Given the description of an element on the screen output the (x, y) to click on. 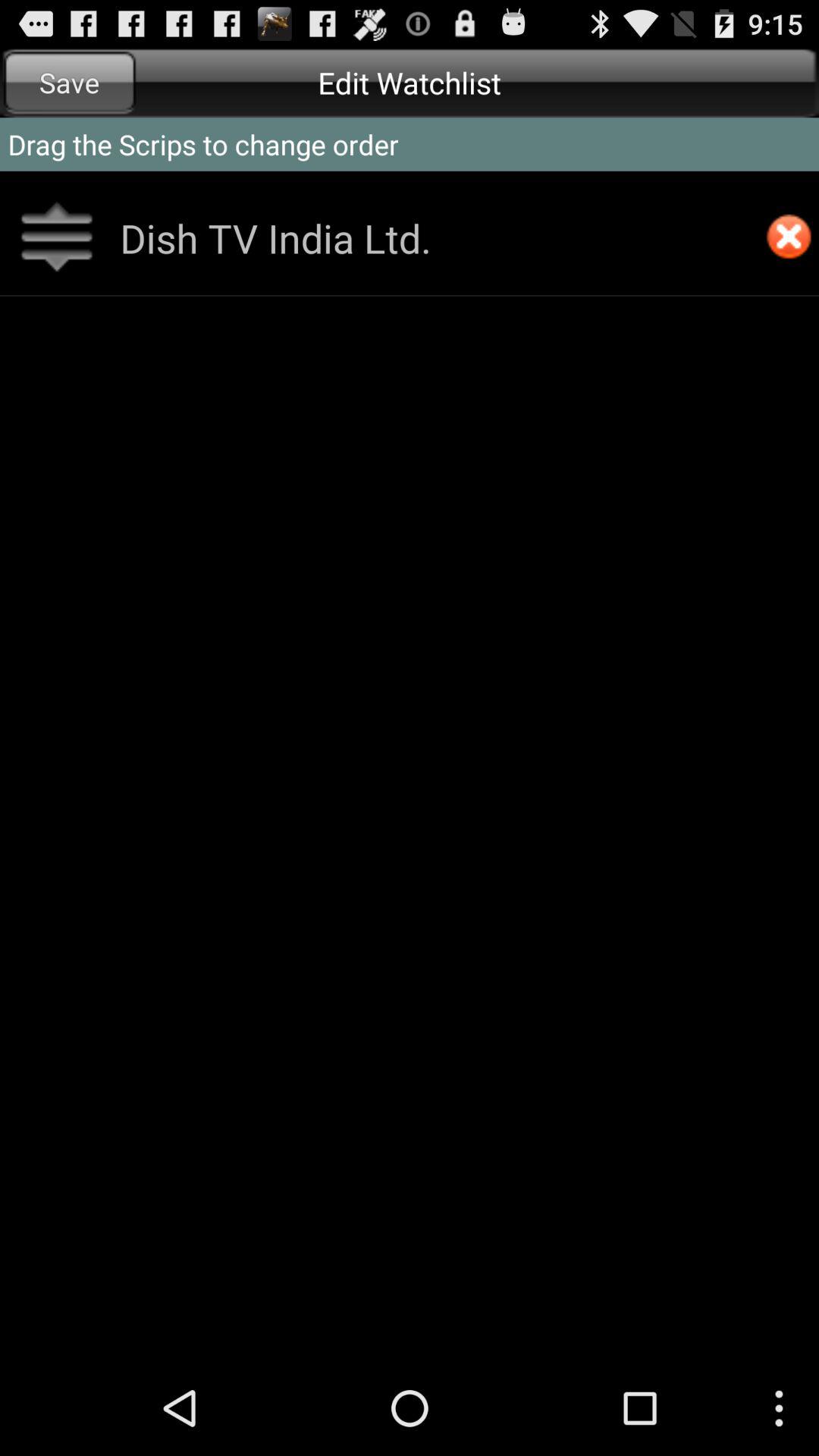
turn off icon above drag the scrips item (69, 82)
